Given the description of an element on the screen output the (x, y) to click on. 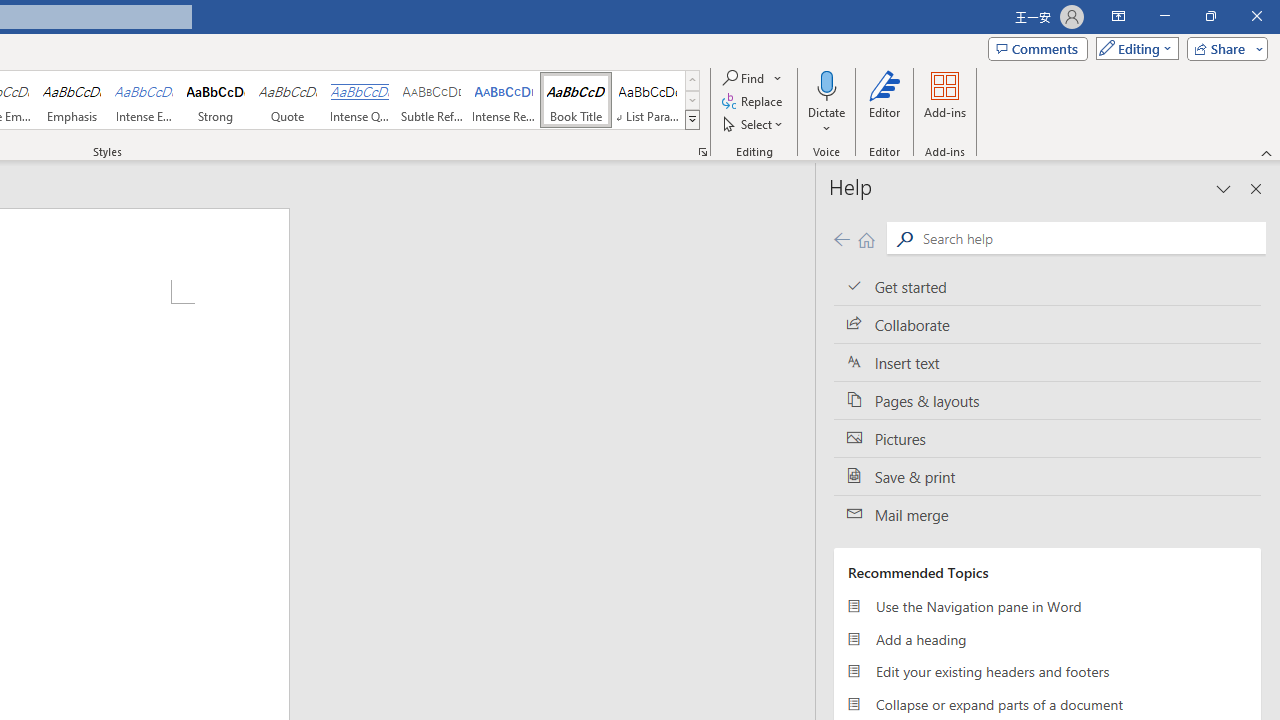
Close (1256, 16)
Class: NetUIImage (692, 119)
Editor (885, 102)
More Options (826, 121)
